Given the description of an element on the screen output the (x, y) to click on. 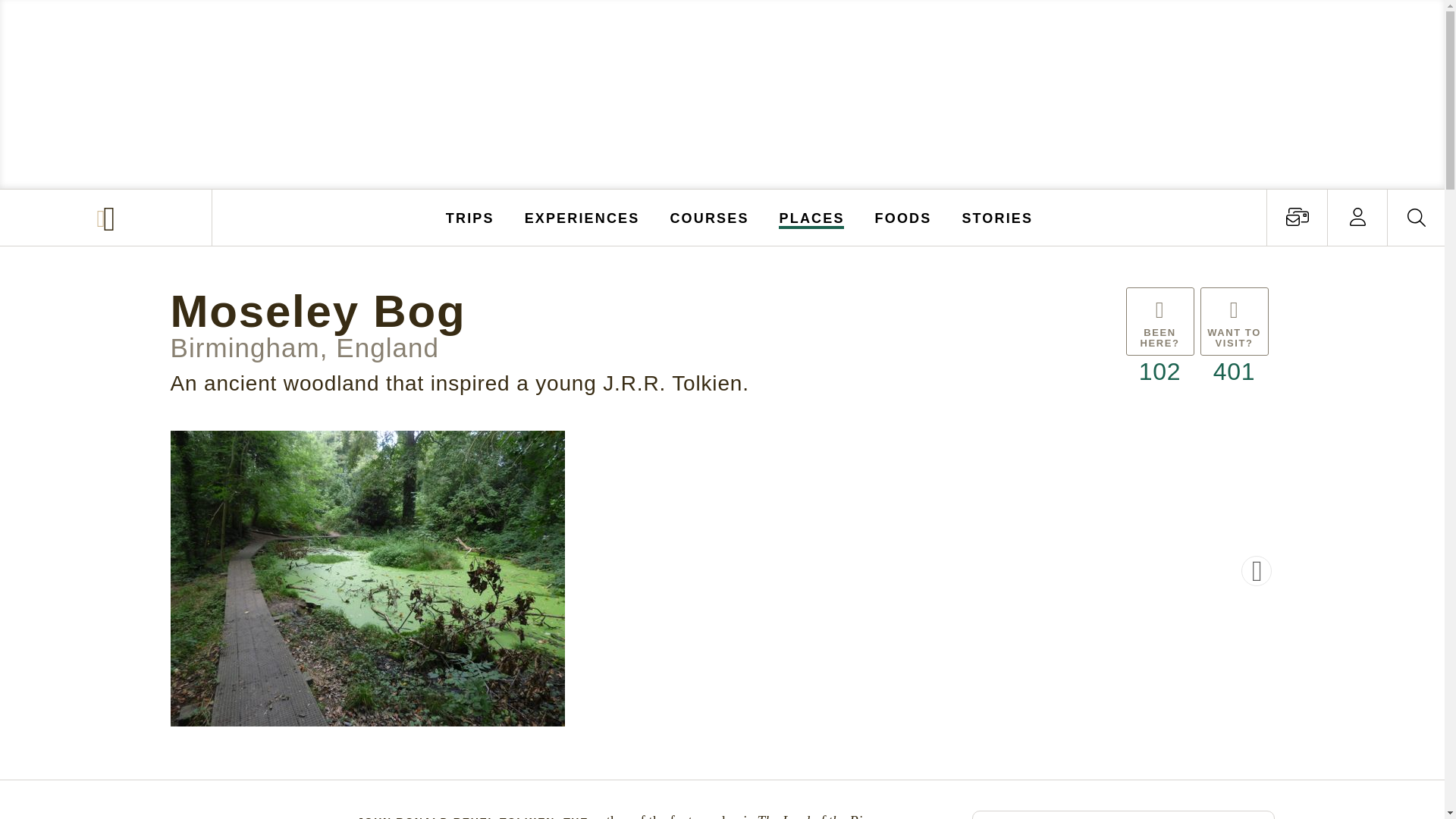
EXPERIENCES (582, 217)
COURSES (707, 217)
TRIPS (469, 217)
PLACES (812, 217)
